Given the description of an element on the screen output the (x, y) to click on. 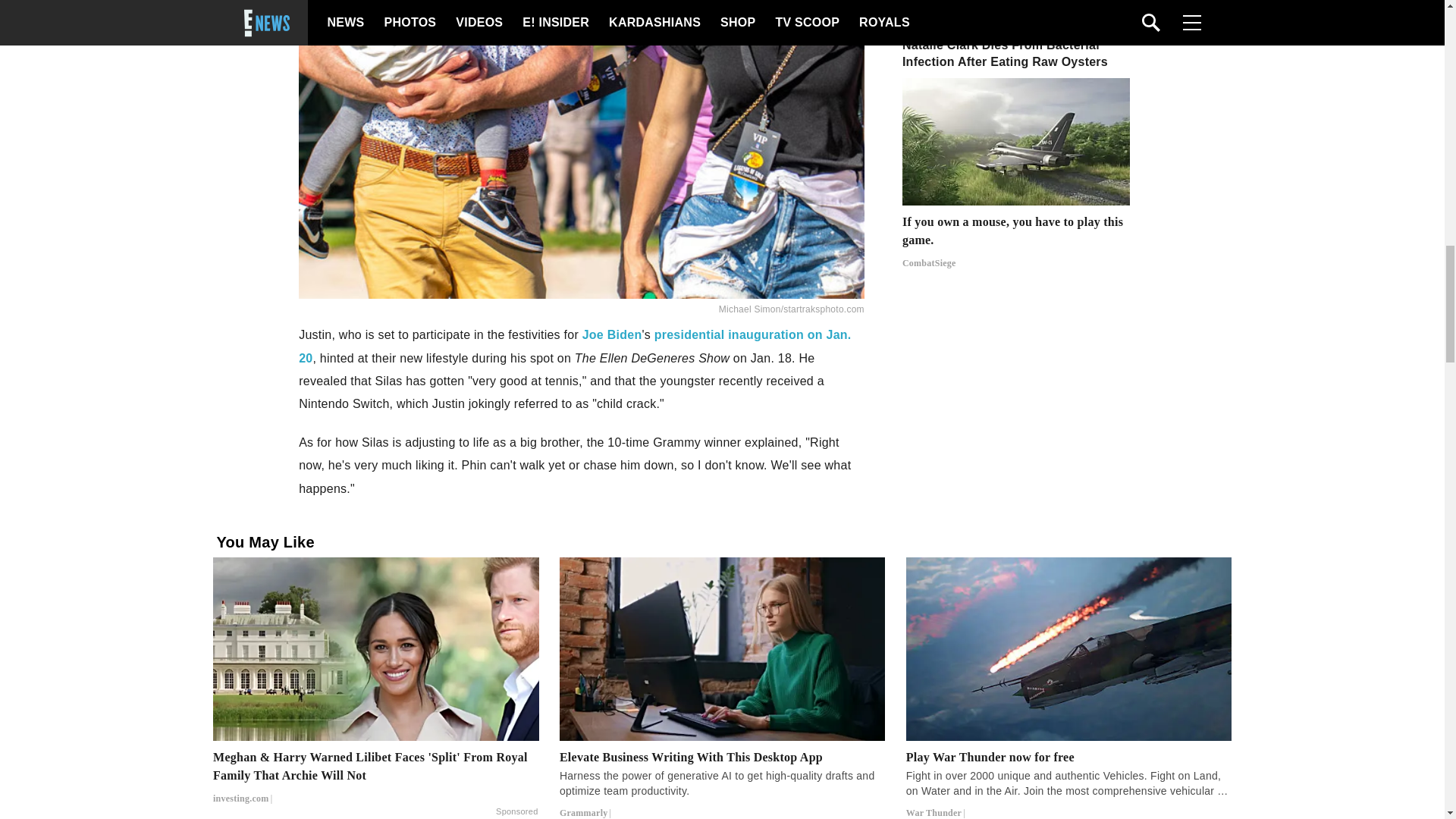
presidential inauguration on Jan. 20 (574, 345)
Joe Biden (612, 334)
